Given the description of an element on the screen output the (x, y) to click on. 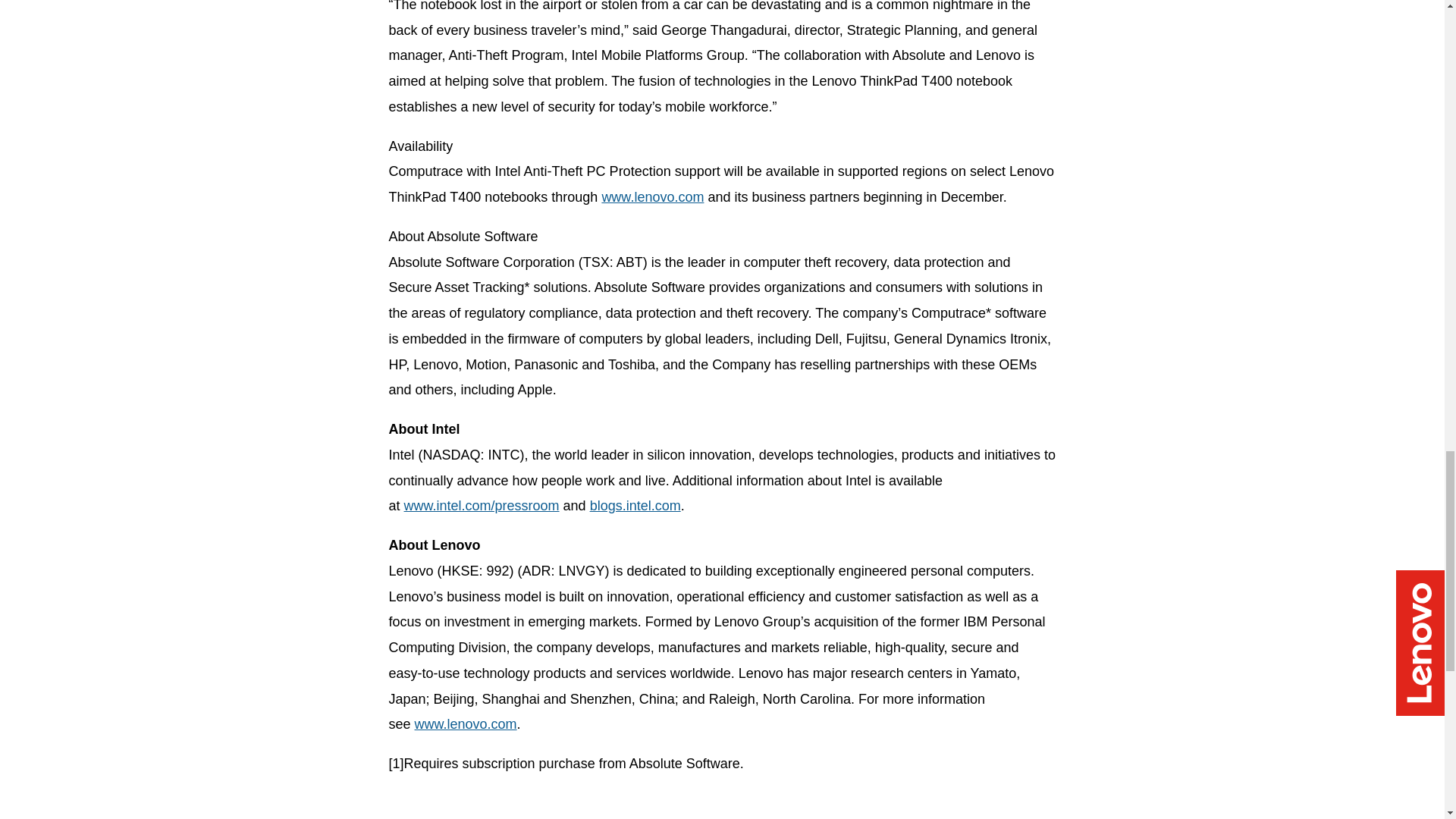
blogs.intel.com (635, 505)
www.lenovo.com (652, 196)
www.lenovo.com (465, 724)
